Given the description of an element on the screen output the (x, y) to click on. 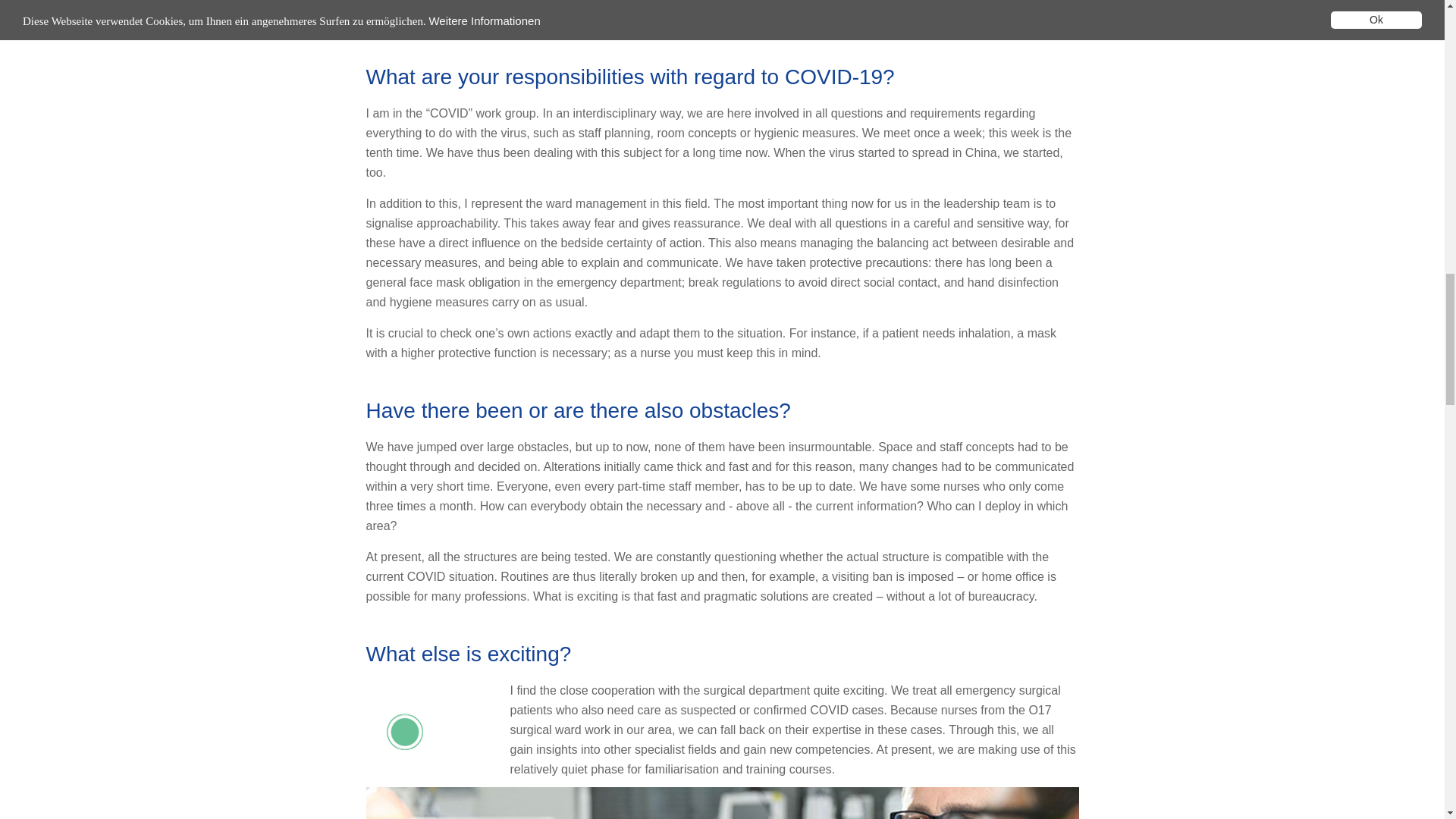
Click here. (422, 731)
Andreas M. and his colleagues (721, 803)
Andreas M. and his colleagues (721, 12)
